Given the description of an element on the screen output the (x, y) to click on. 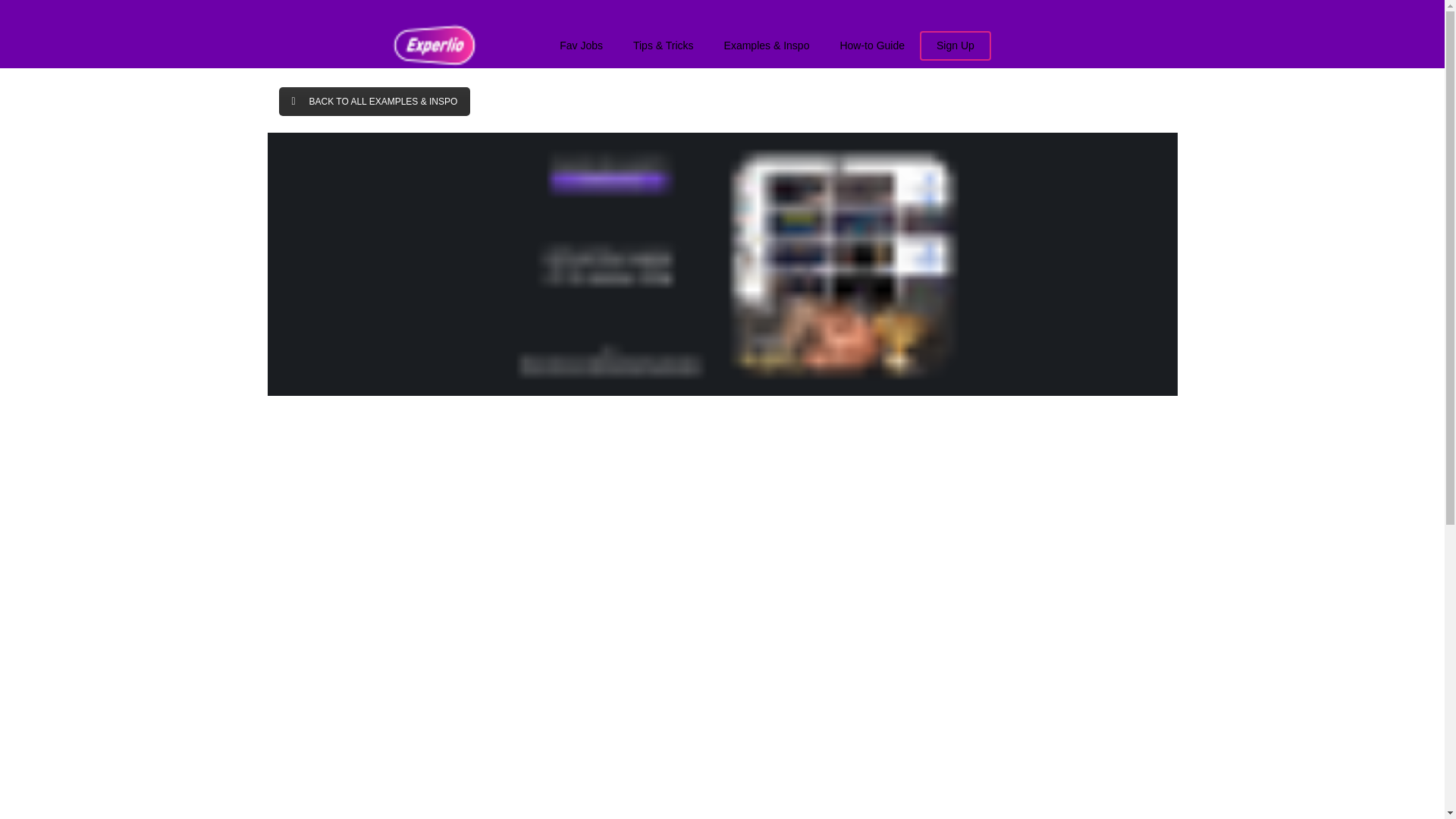
Sign Up (955, 45)
Fav Jobs (580, 40)
How-to Guide (872, 40)
